Given the description of an element on the screen output the (x, y) to click on. 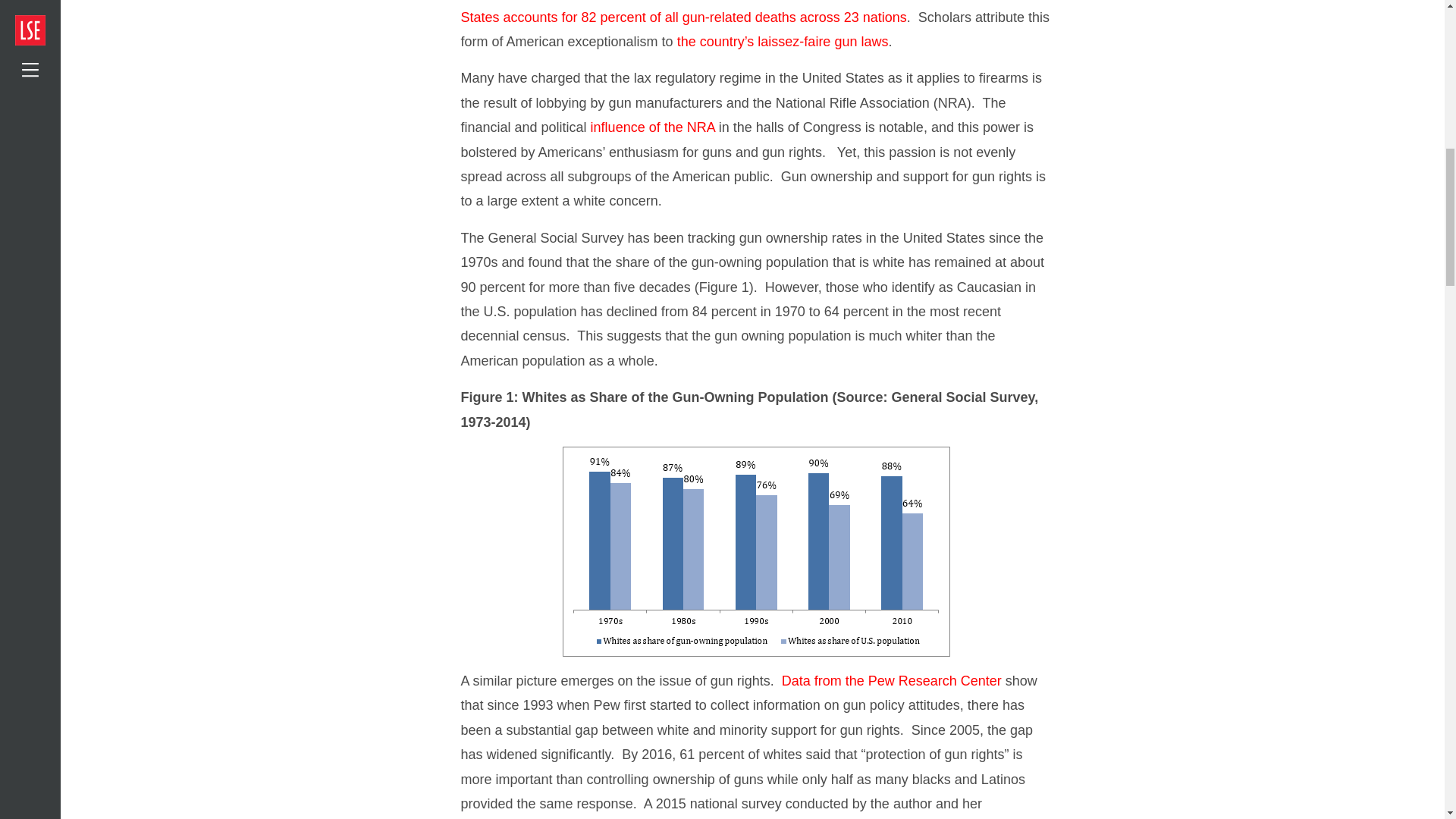
Data from the Pew Research Center (891, 680)
influence of the NRA (652, 127)
